Given the description of an element on the screen output the (x, y) to click on. 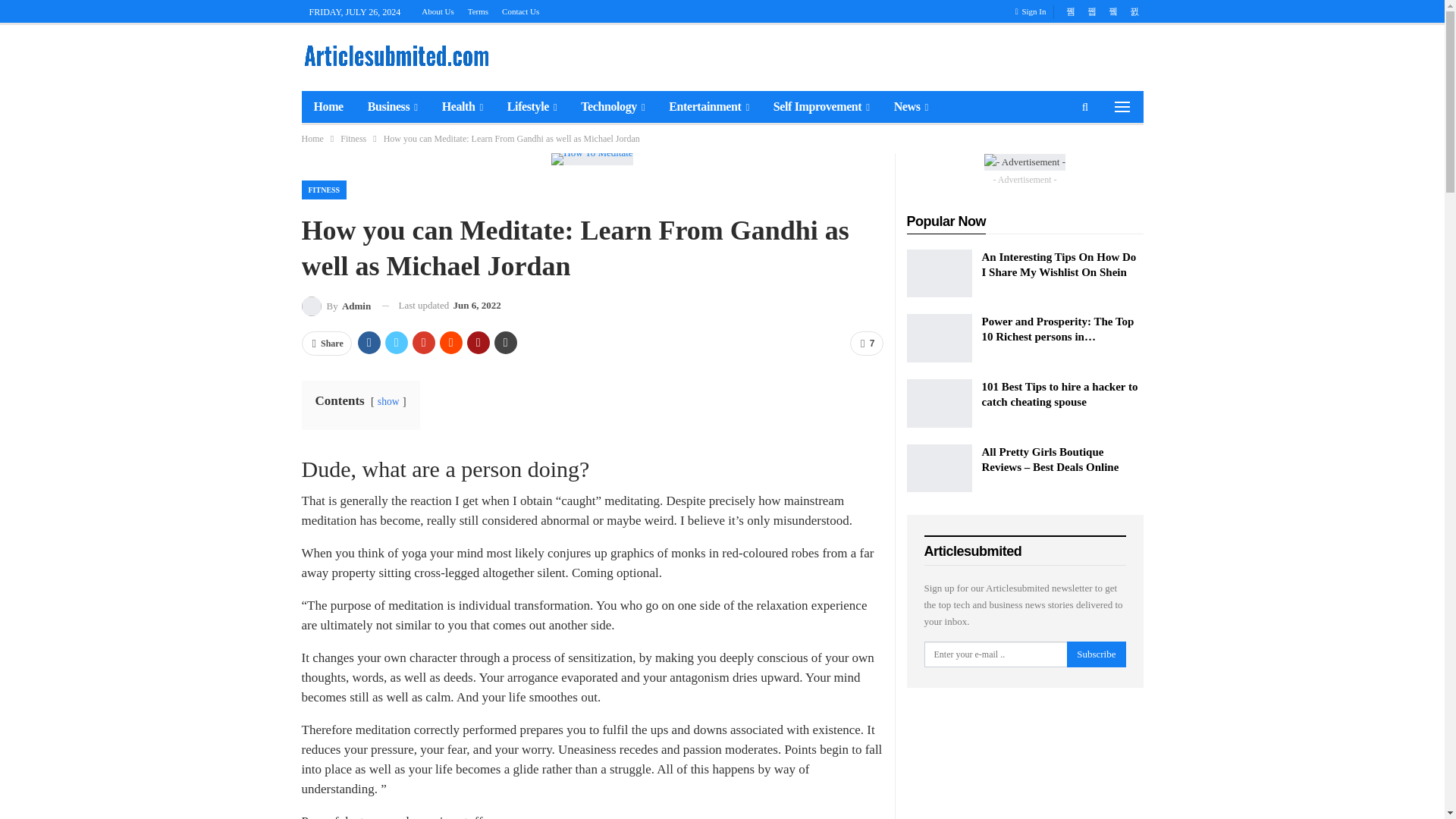
Health (462, 106)
Contact Us (520, 10)
Terms (477, 10)
Home (328, 106)
Browse Author Articles (336, 305)
Technology (612, 106)
Business (392, 106)
Sign In (1033, 11)
Lifestyle (532, 106)
About Us (437, 10)
